Given the description of an element on the screen output the (x, y) to click on. 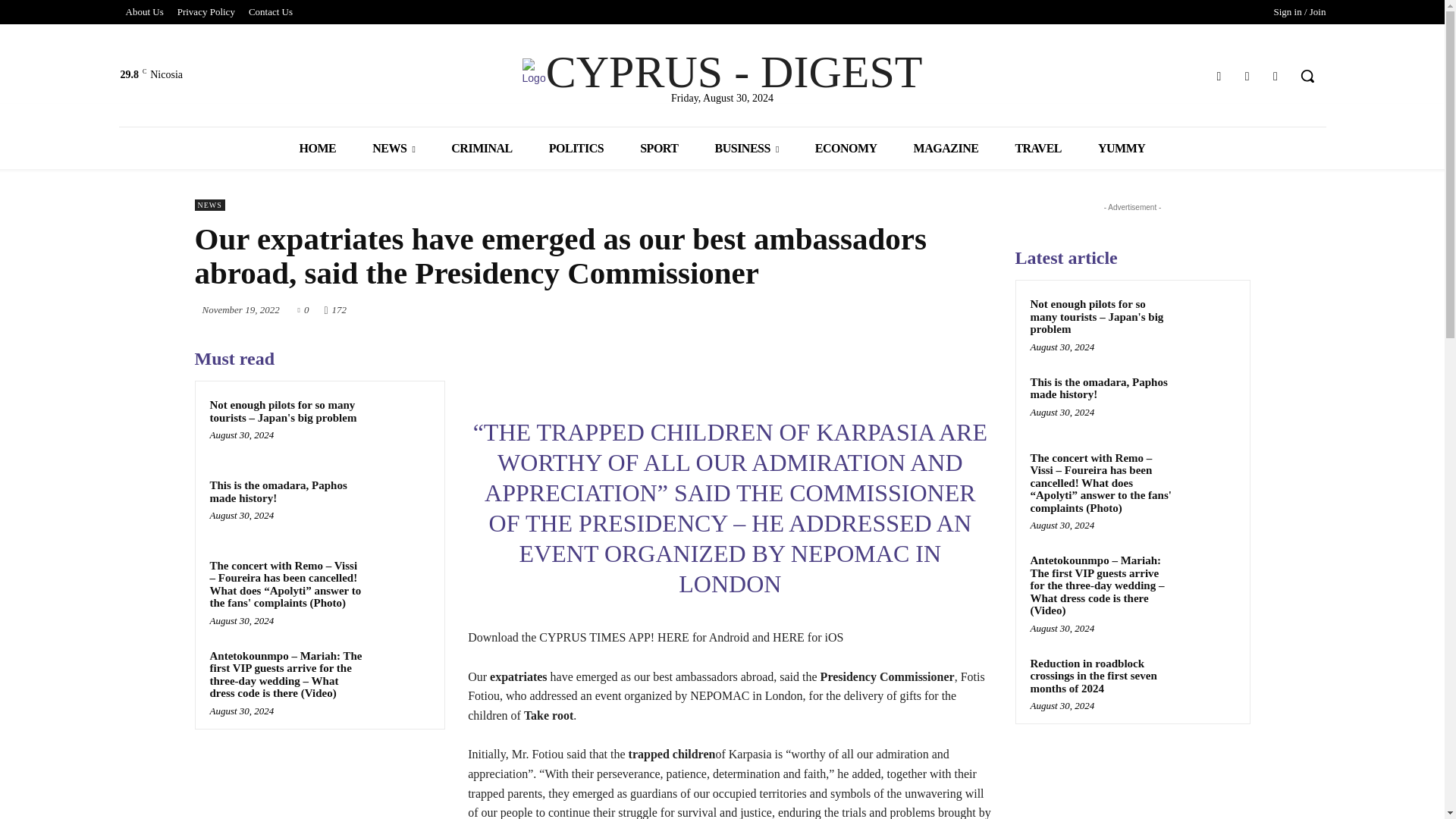
NEWS (392, 147)
HOME (318, 147)
About Us (143, 12)
Youtube (1275, 76)
Facebook (1218, 76)
CYPRUS - DIGEST (721, 71)
Contact Us (270, 12)
Twitter (1246, 76)
Privacy Policy (205, 12)
